Given the description of an element on the screen output the (x, y) to click on. 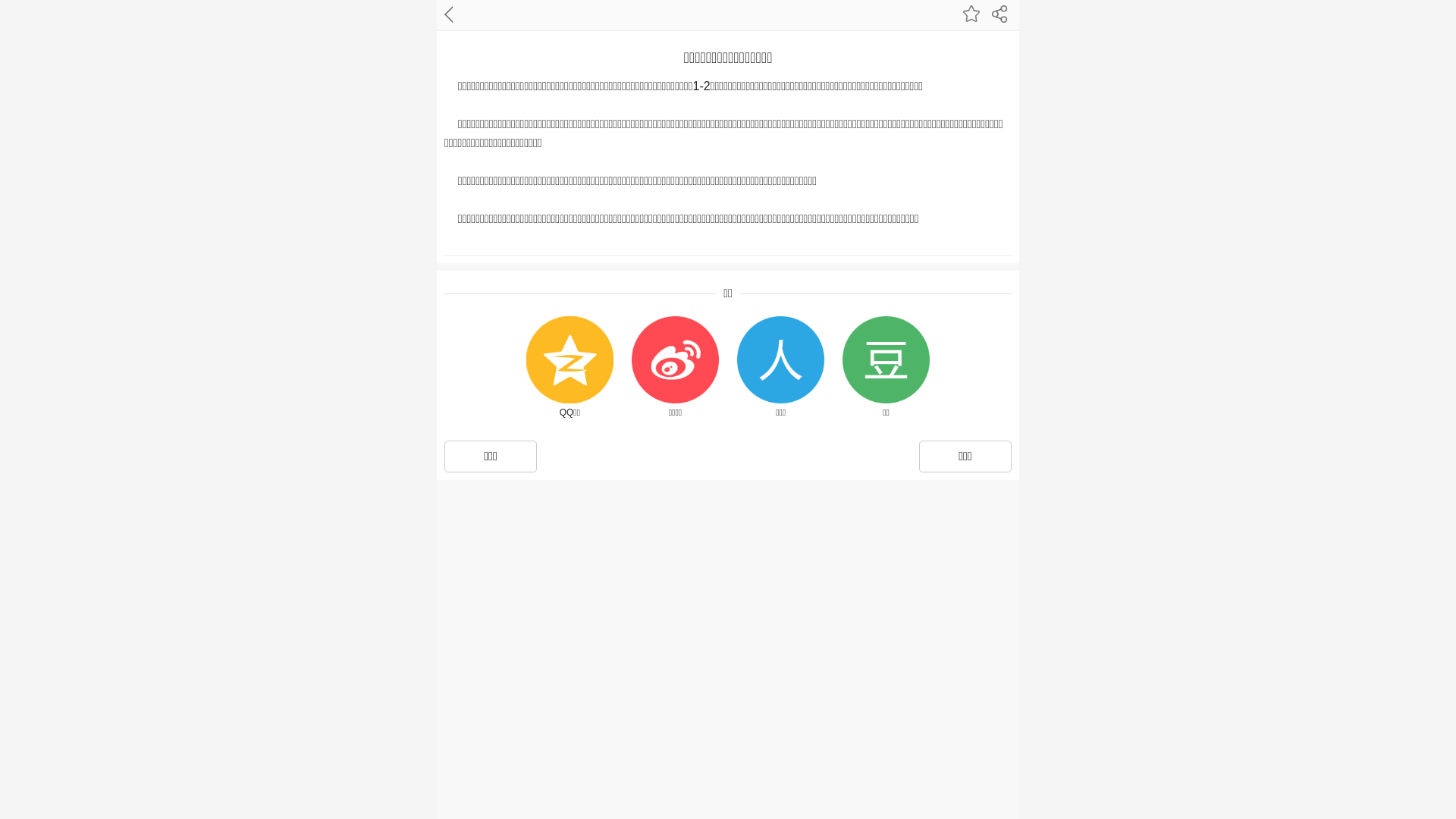
0 Element type: text (55, 49)
